Given the description of an element on the screen output the (x, y) to click on. 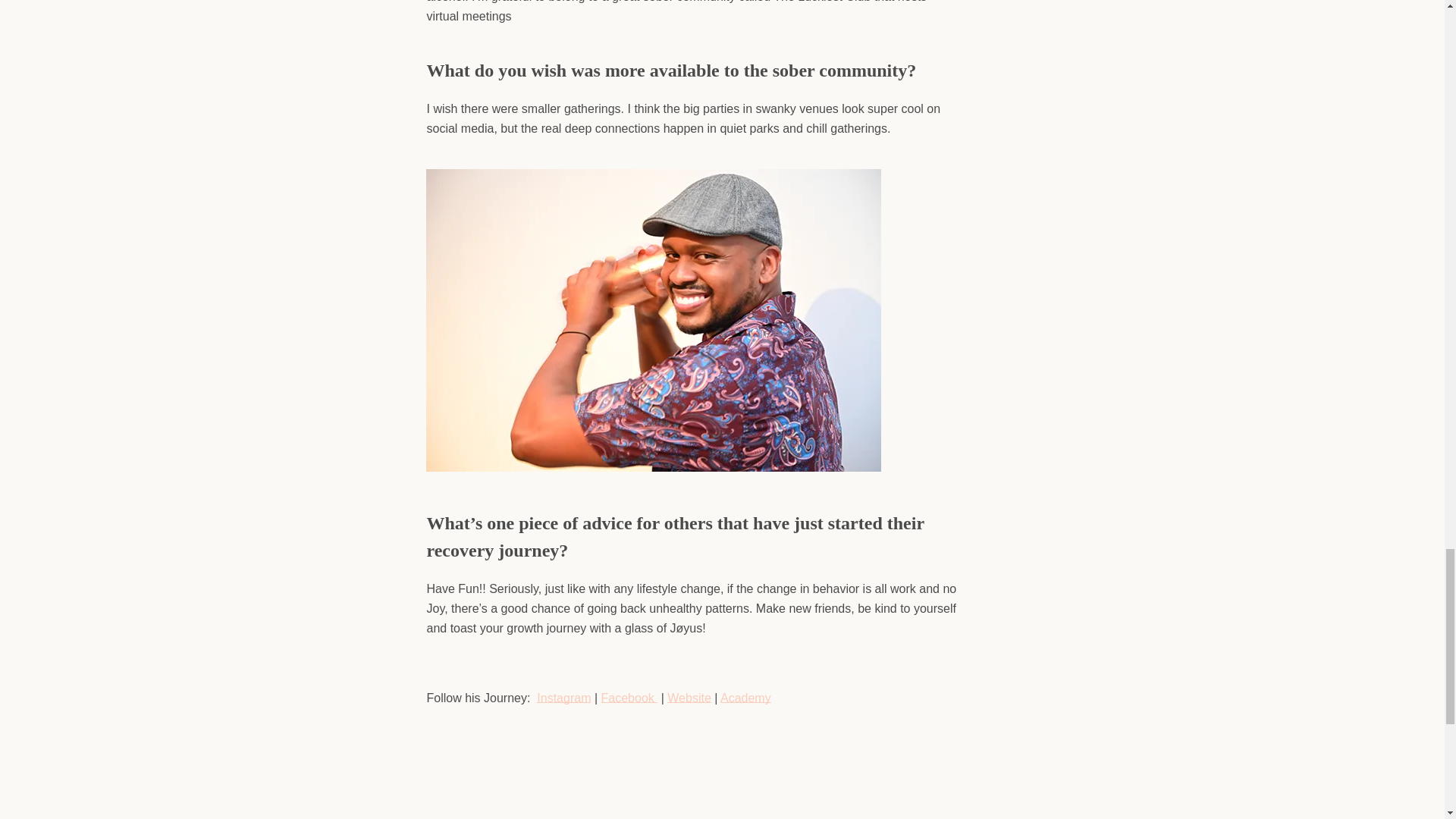
Instagram (564, 697)
Academy (745, 697)
Website (688, 697)
Facebook (627, 697)
